Given the description of an element on the screen output the (x, y) to click on. 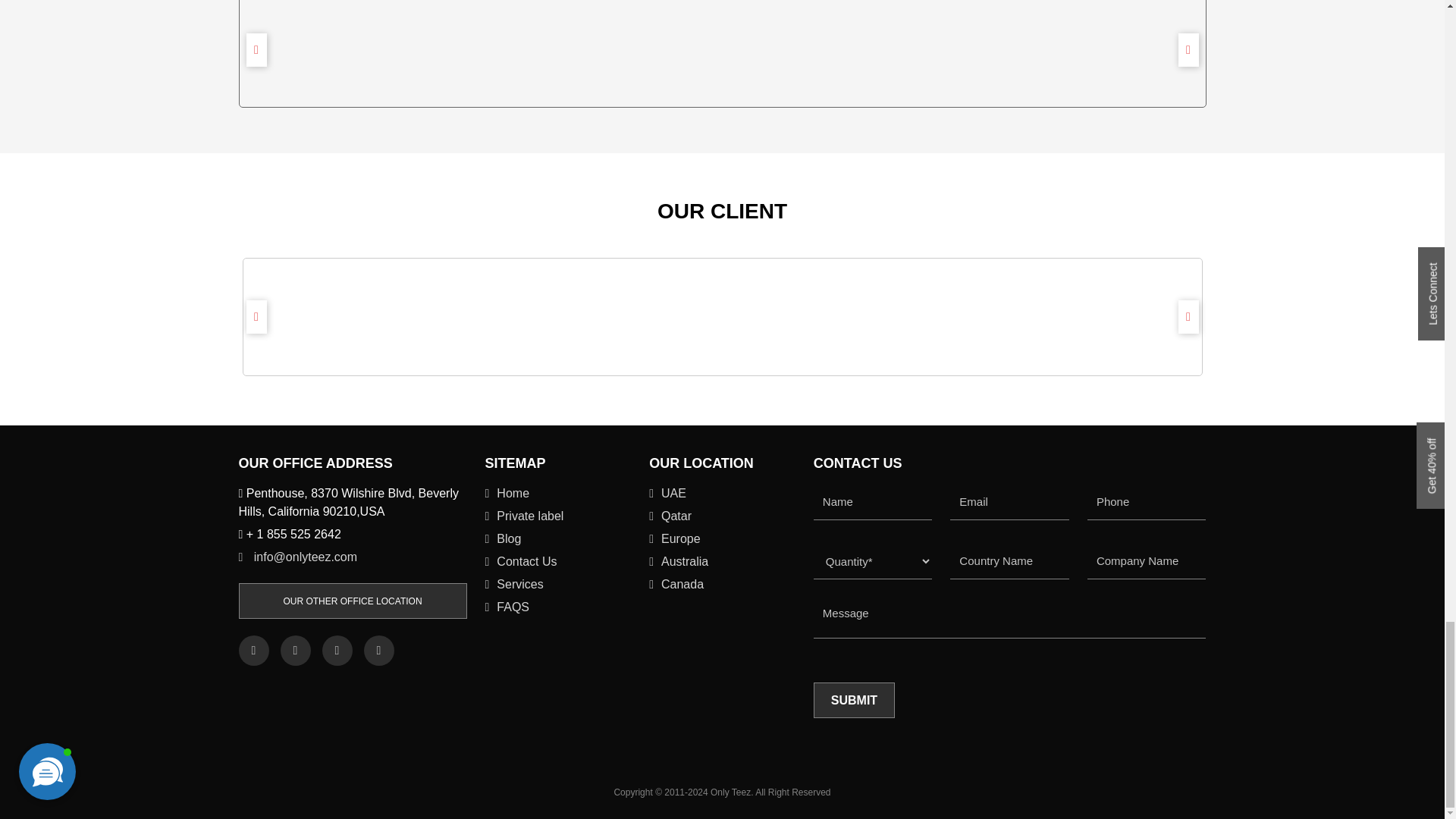
Submit (854, 700)
